Given the description of an element on the screen output the (x, y) to click on. 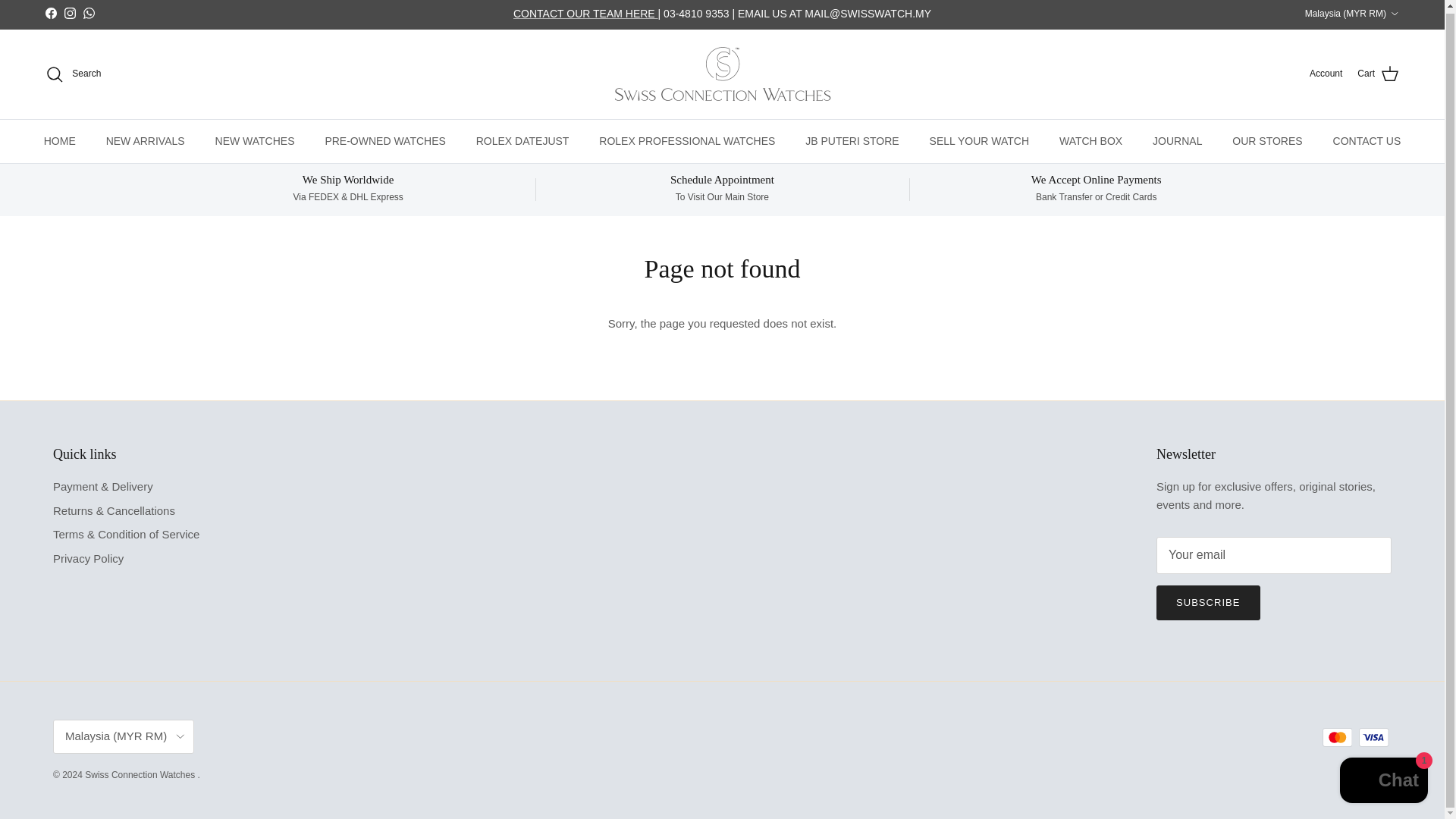
Swiss Connection Watches  (721, 74)
HOME (59, 140)
JB PUTERI STORE (852, 140)
Account (1325, 73)
CONTACT OUR TEAM HERE (585, 13)
WATCH BOX (1090, 140)
Swiss Connection Watches  on Facebook (50, 12)
ROLEX PROFESSIONAL WATCHES (687, 140)
SELL YOUR WATCH (978, 140)
Swiss Connection Watches  on Instagram (69, 12)
NEW WATCHES (255, 140)
ROLEX DATEJUST (523, 140)
Swiss Connection Watches  on WhatsApp (88, 12)
Instagram (69, 12)
JOURNAL (1176, 140)
